Given the description of an element on the screen output the (x, y) to click on. 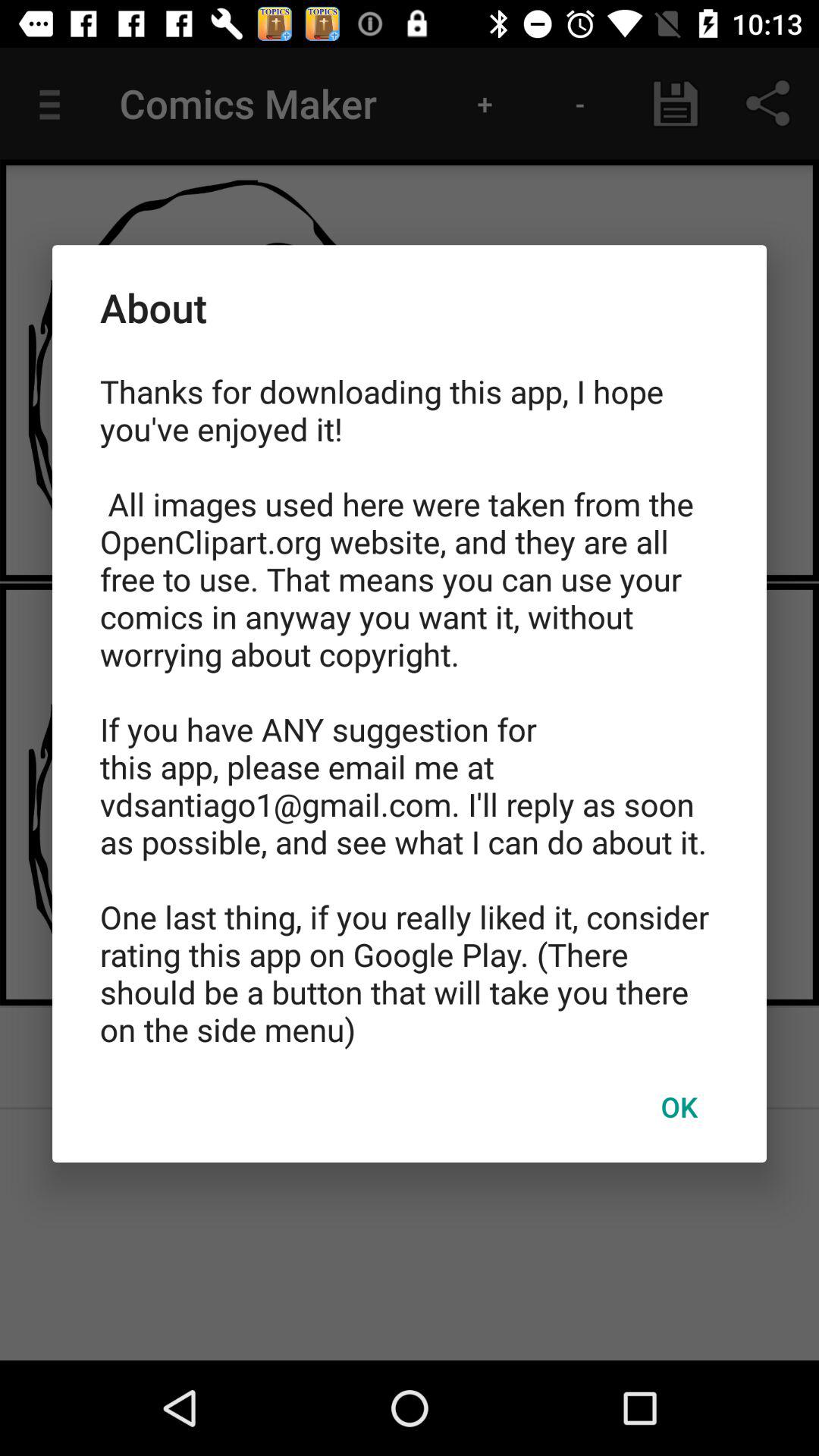
press button at the bottom right corner (678, 1106)
